Given the description of an element on the screen output the (x, y) to click on. 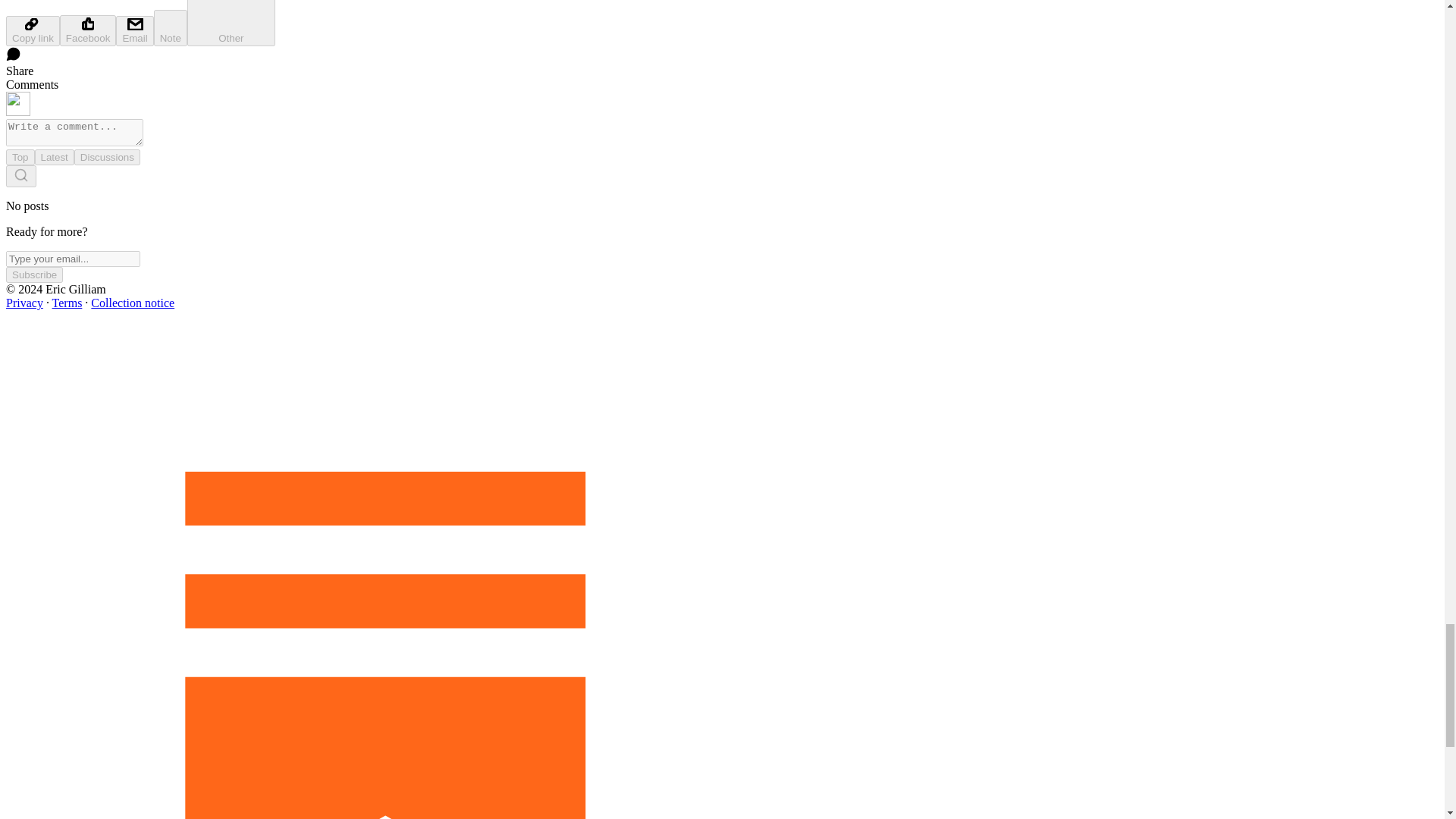
Copy link (32, 30)
Facebook (87, 30)
Email (134, 30)
